Given the description of an element on the screen output the (x, y) to click on. 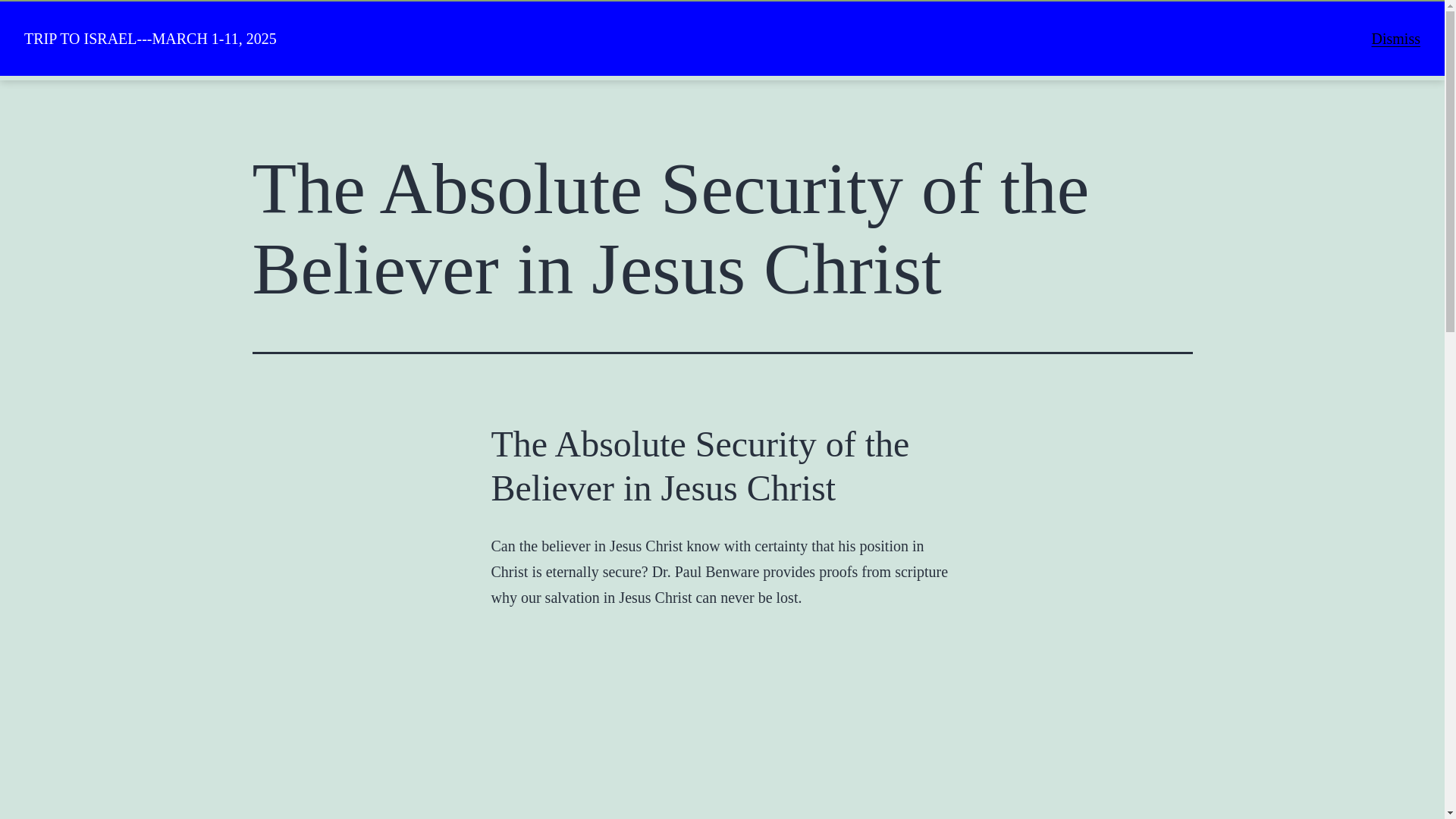
About (1343, 32)
Articles (1169, 32)
Bookstore (926, 32)
Upcoming (1272, 32)
Media (1078, 32)
Mid-Month Musings (811, 32)
PAUL BENWARE MINISTRIES (176, 32)
Links (1021, 32)
